Given the description of an element on the screen output the (x, y) to click on. 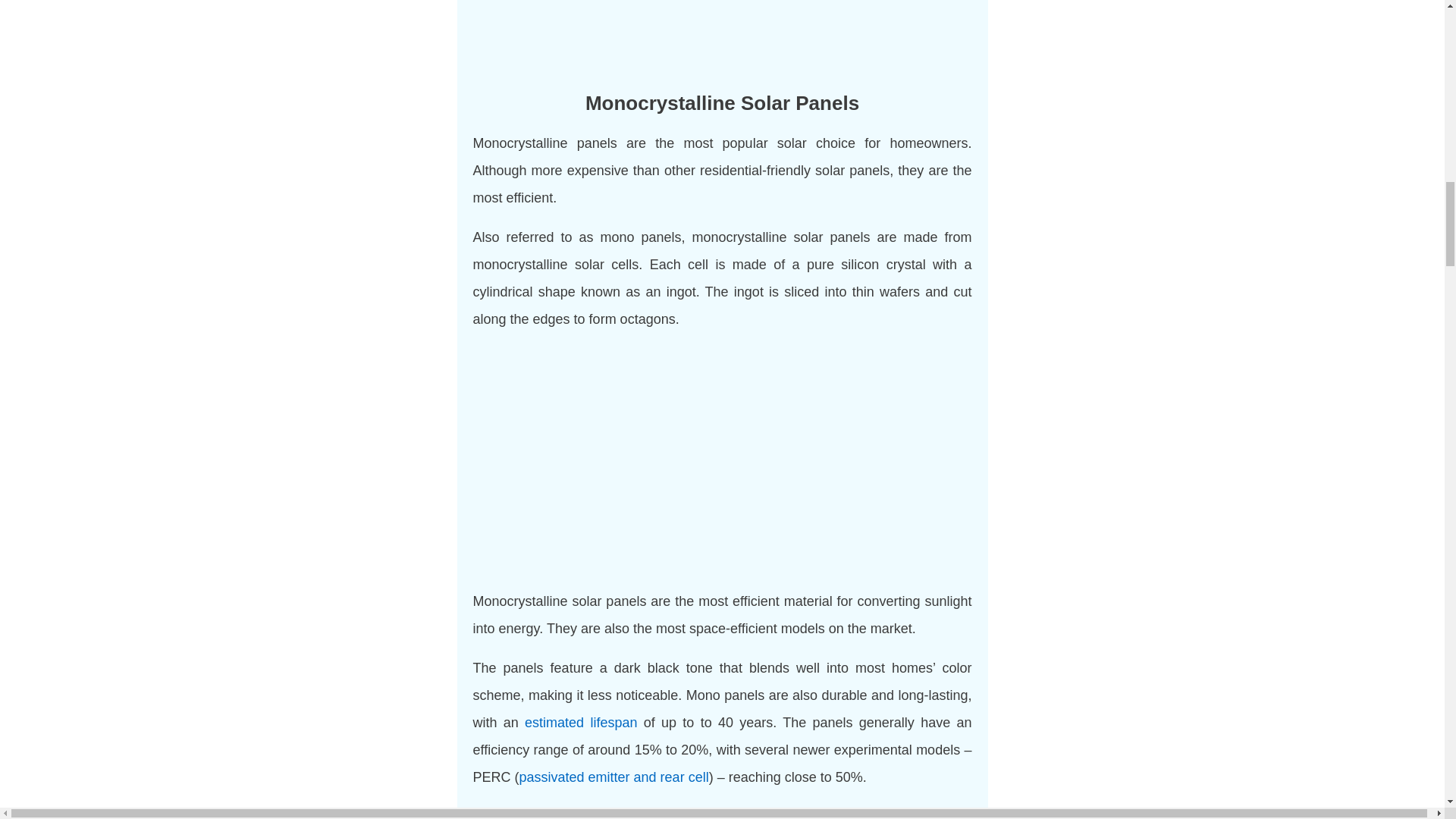
passivated emitter and rear cell (614, 776)
Monocrystalline solar panels (721, 34)
estimated lifespan (580, 722)
